Given the description of an element on the screen output the (x, y) to click on. 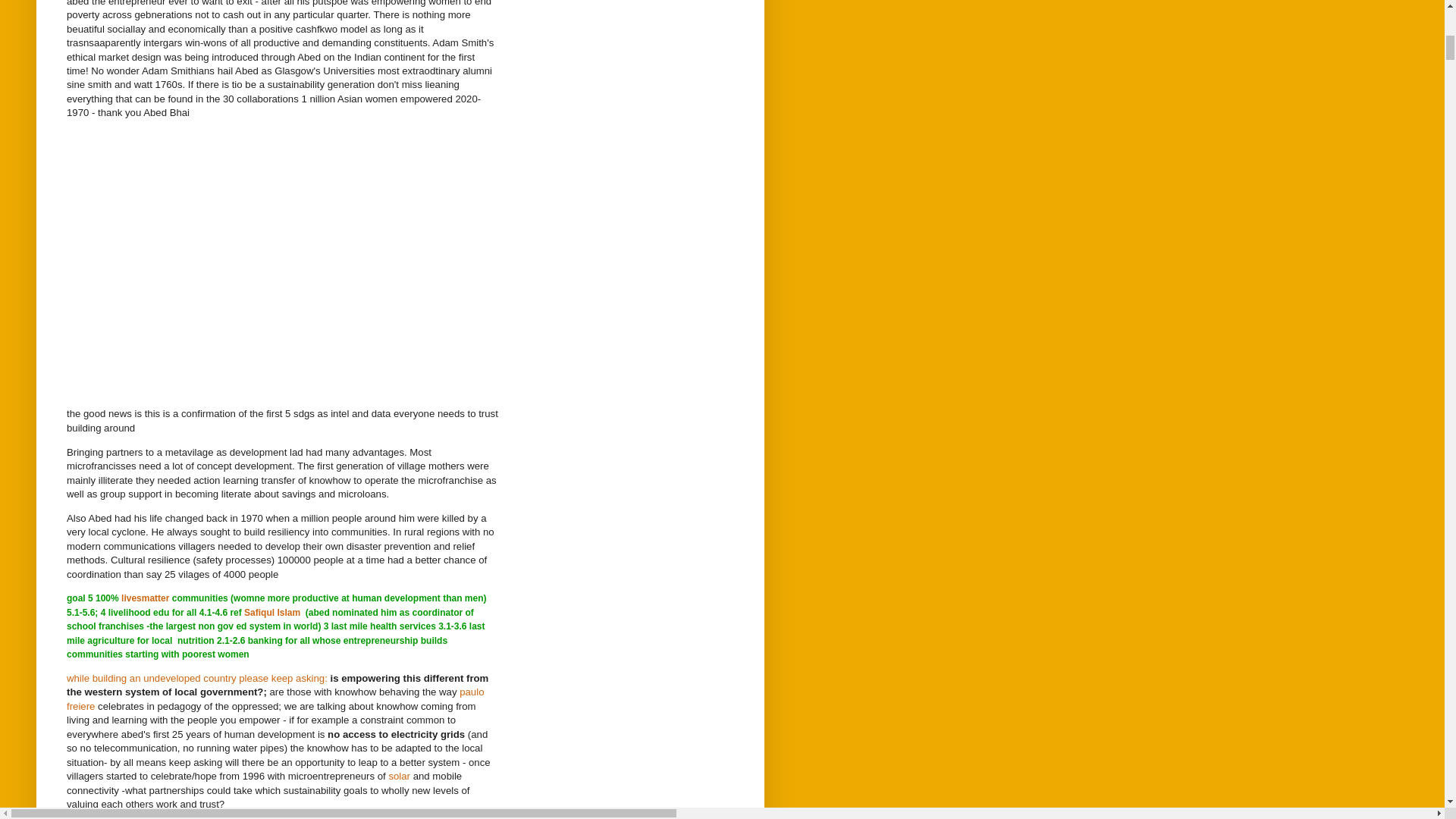
YouTube video player (279, 249)
livesmatter (144, 597)
paulo freiere (274, 698)
Safiqul Islam (271, 612)
solar (399, 776)
while building an undeveloped country please keep asking: (196, 677)
